Given the description of an element on the screen output the (x, y) to click on. 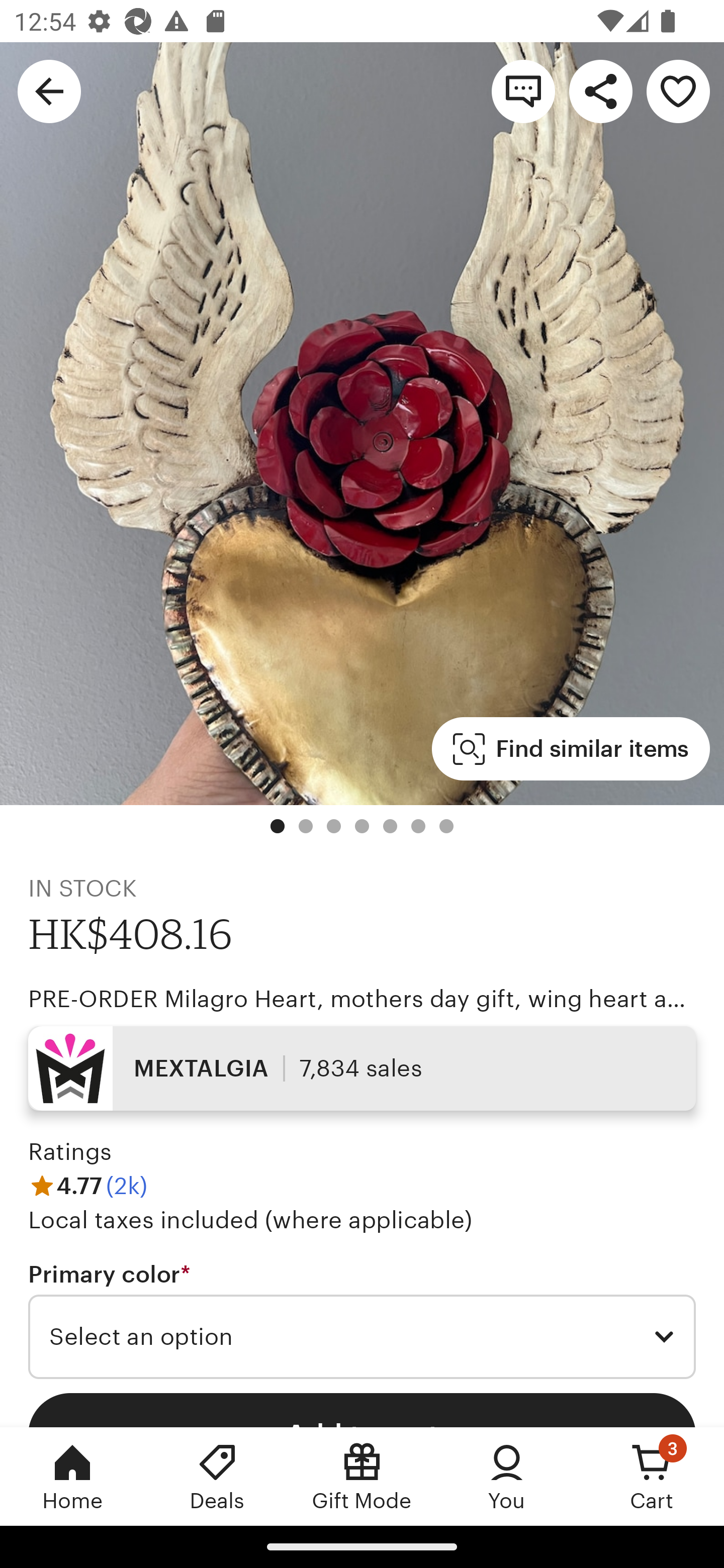
Navigate up (49, 90)
Contact shop (523, 90)
Share (600, 90)
Find similar items (571, 748)
MEXTALGIA 7,834 sales (361, 1067)
Ratings (70, 1151)
4.77 (2k) (87, 1185)
Primary color * Required Select an option (361, 1319)
Select an option (361, 1336)
Deals (216, 1475)
Gift Mode (361, 1475)
You (506, 1475)
Cart, 3 new notifications Cart (651, 1475)
